Given the description of an element on the screen output the (x, y) to click on. 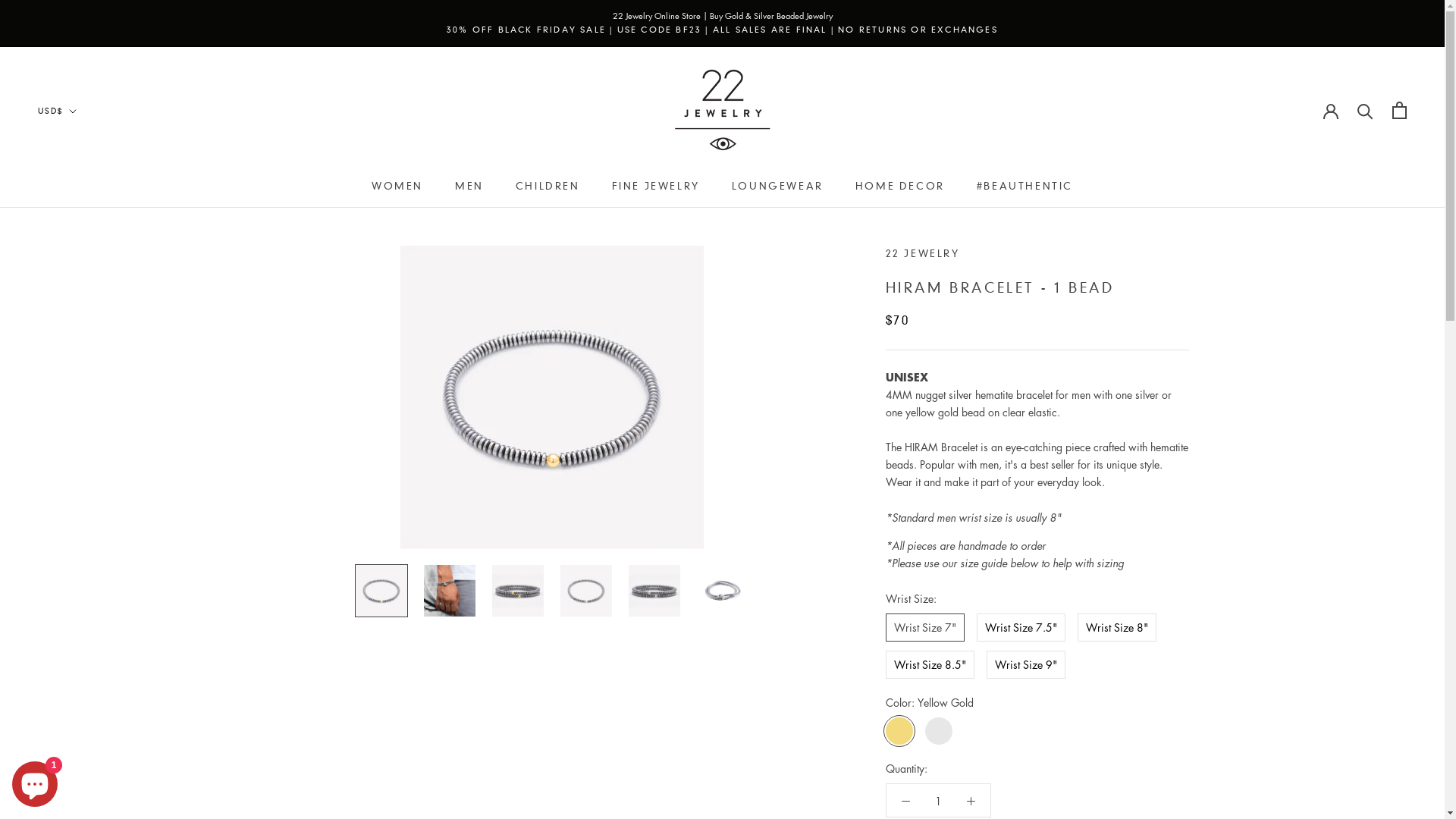
USD Element type: text (82, 283)
FINE JEWELRY
FINE JEWELRY Element type: text (655, 185)
#BEAUTHENTIC
#BEAUTHENTIC Element type: text (1024, 185)
/cart Element type: hover (1399, 110)
USD$ Element type: text (56, 111)
CHILDREN
CHILDREN Element type: text (547, 185)
WOMEN
WOMEN Element type: text (397, 185)
SEK Element type: text (82, 264)
EUR Element type: text (82, 203)
/search Element type: hover (1365, 110)
PLN Element type: text (82, 243)
LOUNGEWEAR
LOUNGEWEAR Element type: text (777, 185)
Shopify online store chat Element type: hover (34, 780)
MEN
MEN Element type: text (469, 185)
CHF Element type: text (82, 163)
CAD Element type: text (82, 143)
HOME DECOR
HOME DECOR Element type: text (899, 185)
/account Element type: hover (1330, 109)
DKK Element type: text (82, 183)
GBP Element type: text (82, 223)
